Given the description of an element on the screen output the (x, y) to click on. 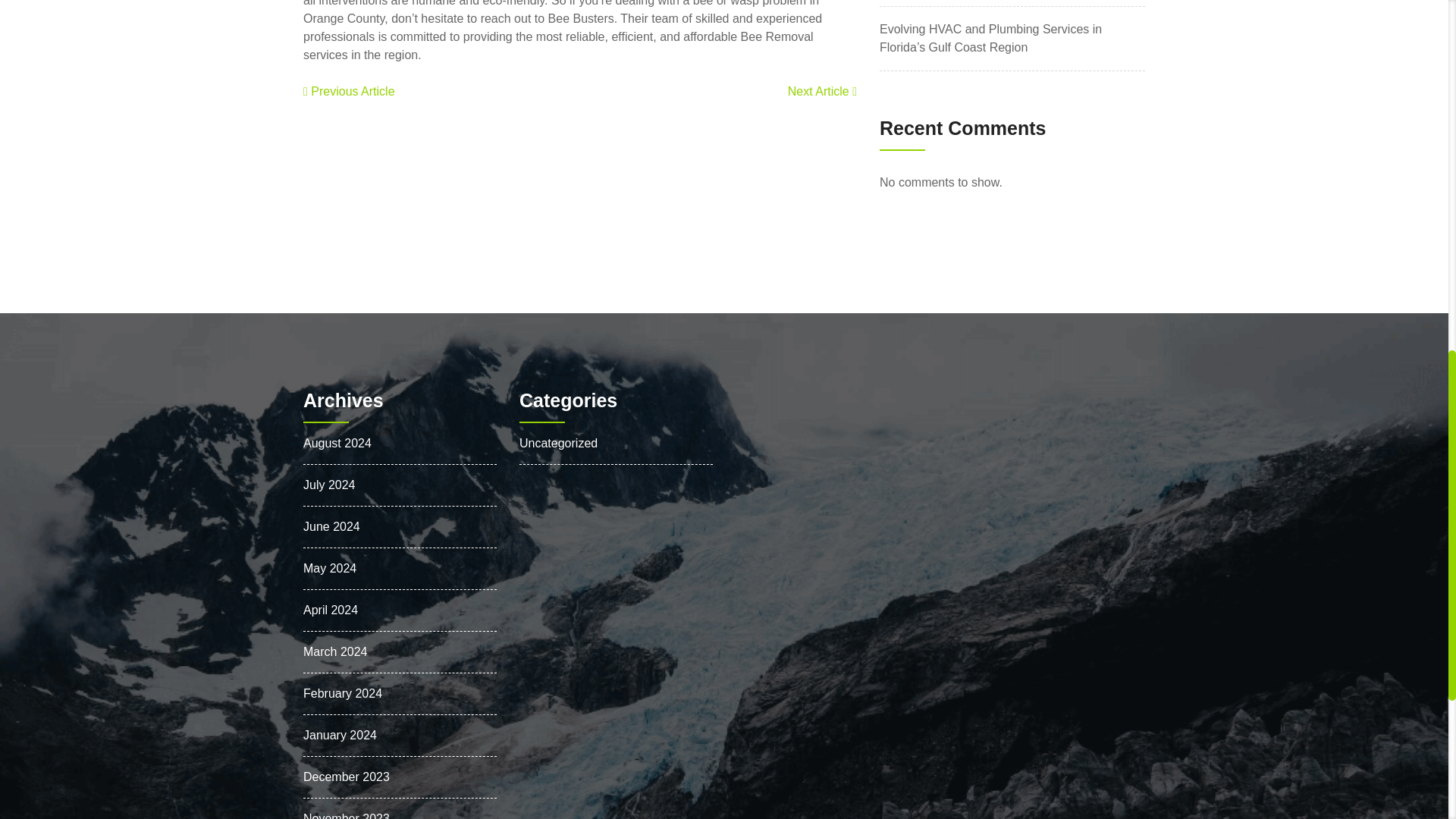
January 2024 (339, 734)
February 2024 (341, 693)
May 2024 (329, 567)
April 2024 (330, 609)
November 2023 (346, 815)
June 2024 (330, 526)
Next Article (822, 91)
August 2024 (336, 442)
December 2023 (346, 776)
March 2024 (335, 650)
